Given the description of an element on the screen output the (x, y) to click on. 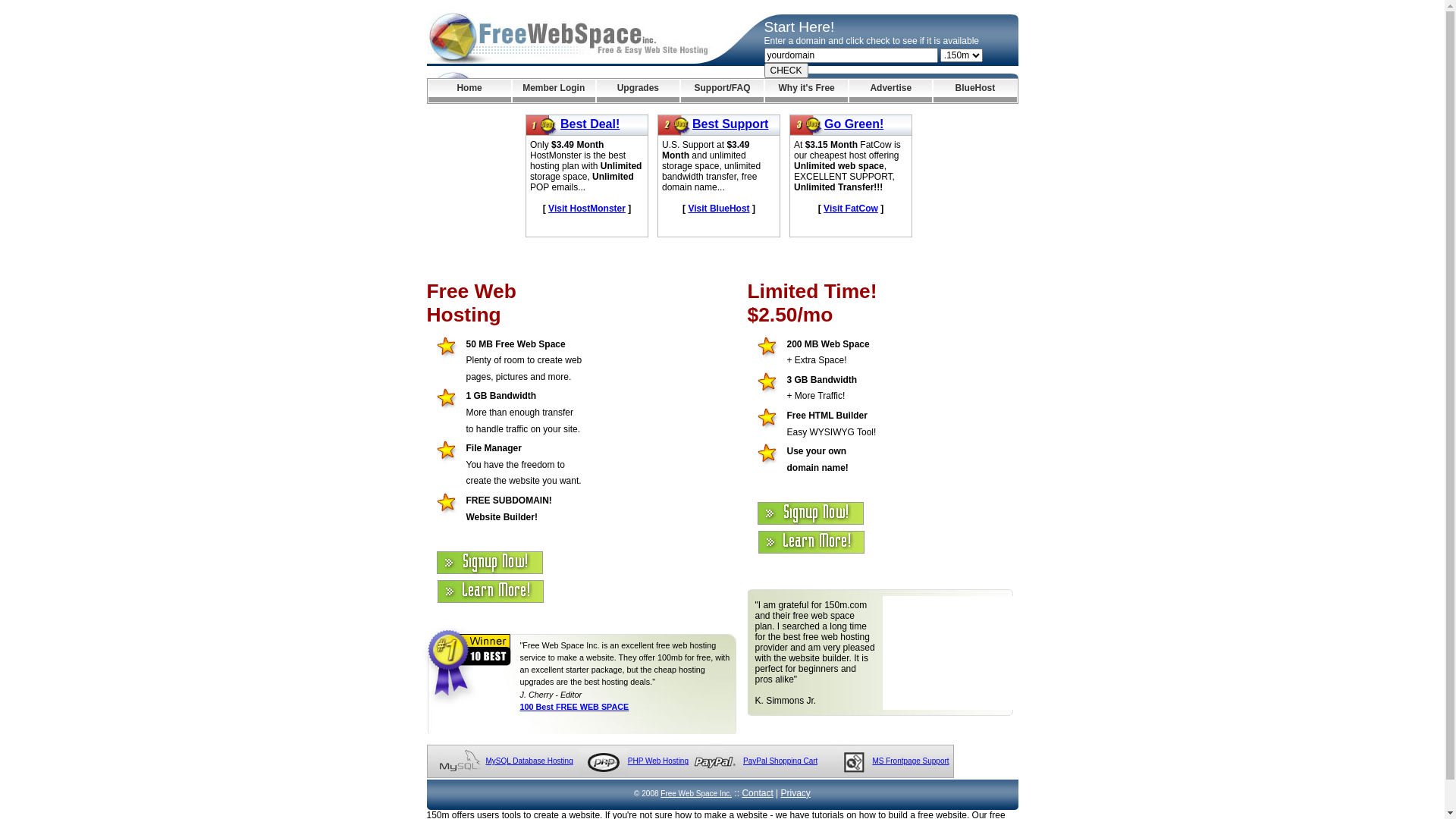
Member Login Element type: text (553, 90)
MS Frontpage Support Element type: text (910, 760)
Contact Element type: text (756, 792)
Support/FAQ Element type: text (721, 90)
Advertise Element type: text (890, 90)
Why it's Free Element type: text (806, 90)
Privacy Element type: text (795, 792)
PayPal Shopping Cart Element type: text (780, 760)
Home Element type: text (468, 90)
Free Web Space Inc. Element type: text (695, 793)
MySQL Database Hosting Element type: text (528, 760)
BlueHost Element type: text (974, 90)
PHP Web Hosting Element type: text (657, 760)
Upgrades Element type: text (637, 90)
100 Best FREE WEB SPACE Element type: text (574, 706)
CHECK Element type: text (786, 70)
